Given the description of an element on the screen output the (x, y) to click on. 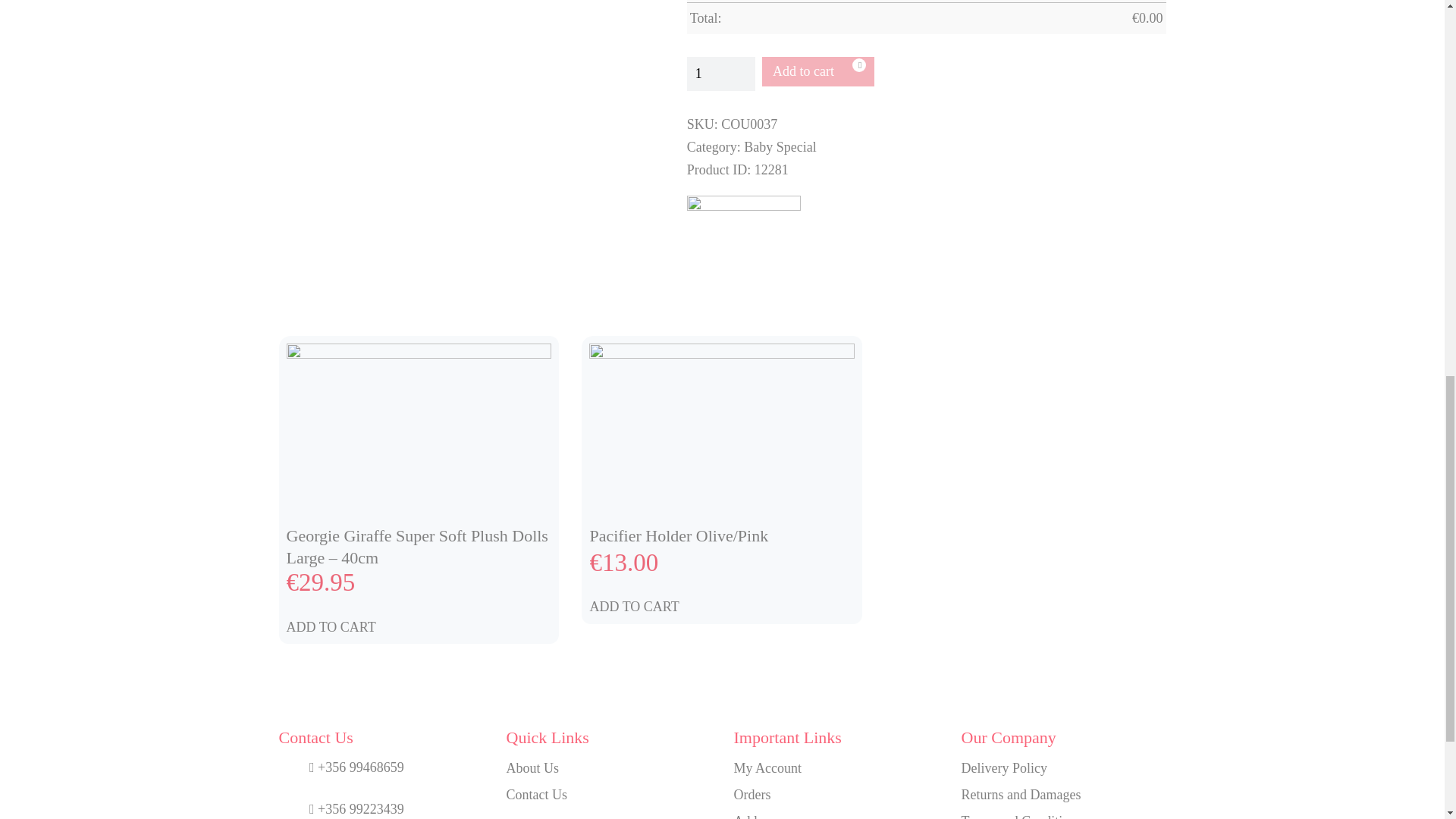
L'Oiseau Bateau (743, 251)
1 (721, 73)
Add to cart (818, 71)
